Given the description of an element on the screen output the (x, y) to click on. 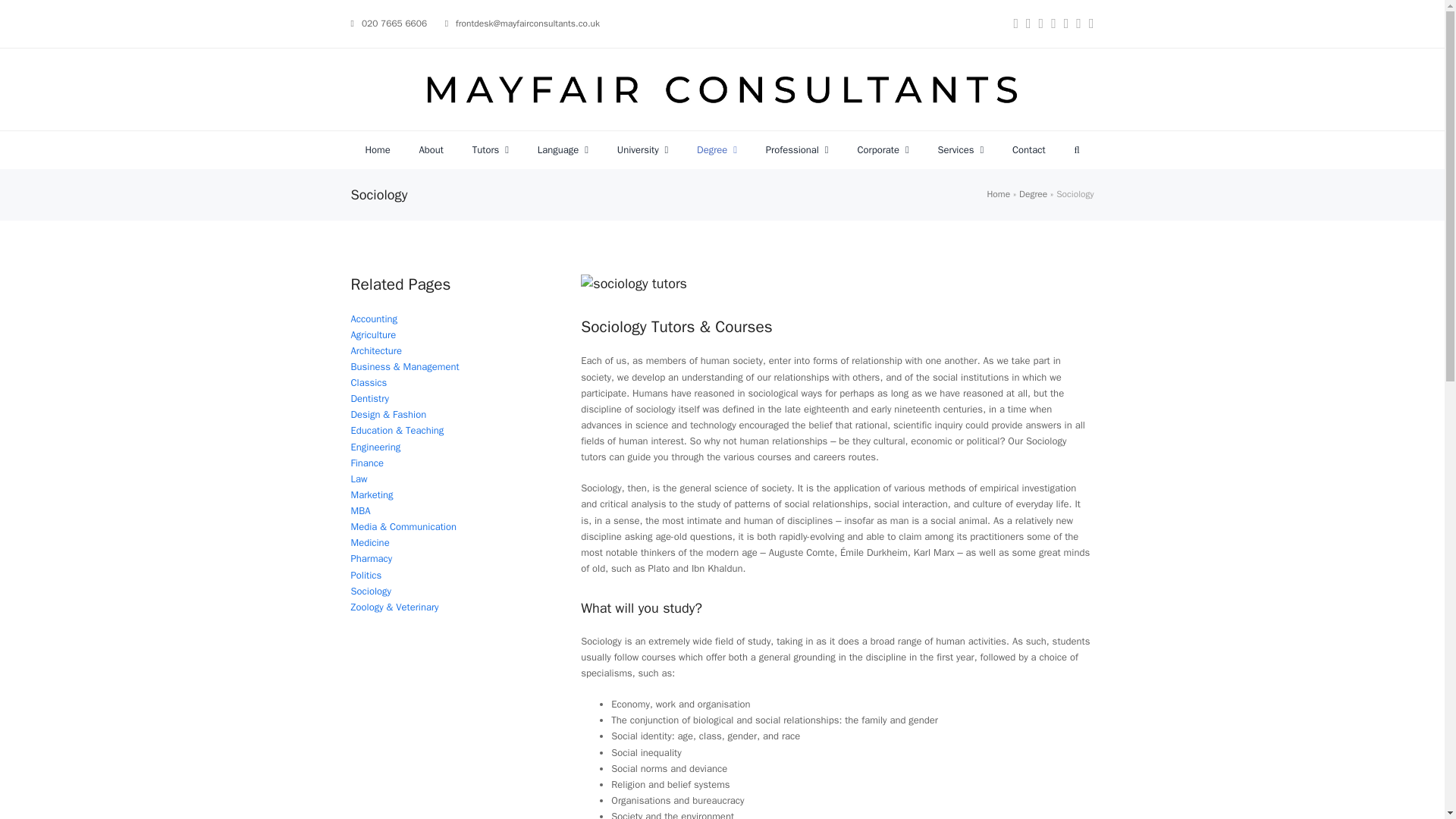
Instagram (1015, 23)
Email (1066, 23)
Phone (1078, 23)
Twitter (1041, 23)
020 7665 6606 (393, 23)
Tutors (490, 149)
Facebook (1028, 23)
Phone (1078, 23)
Whatsapp (1091, 23)
Home (377, 149)
Instagram (1015, 23)
Language (562, 149)
About (431, 149)
Twitter (1041, 23)
LinkedIn (1054, 23)
